Given the description of an element on the screen output the (x, y) to click on. 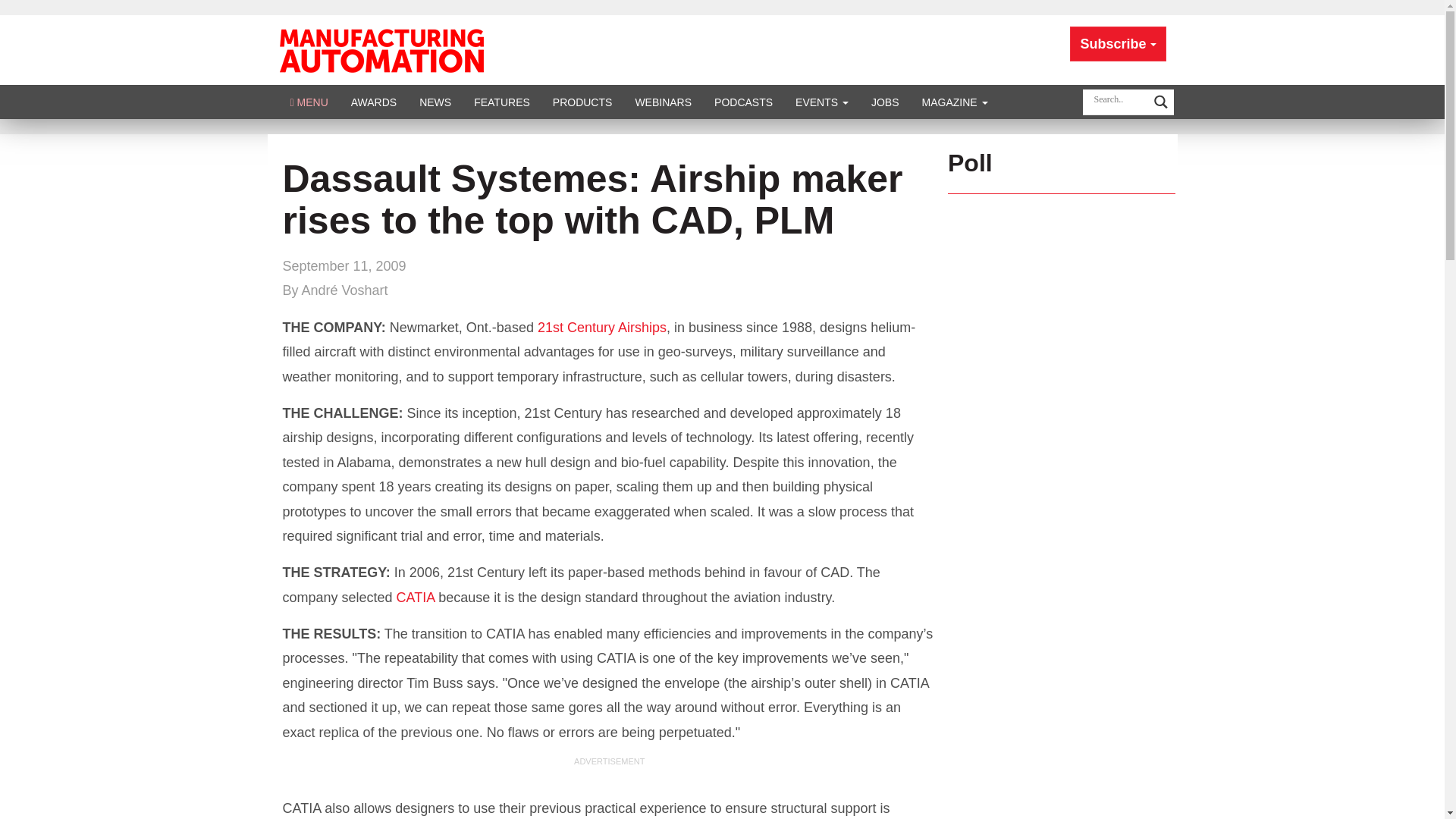
JOBS (885, 101)
PRODUCTS (582, 101)
PODCASTS (743, 101)
NEWS (435, 101)
Subscribe (1118, 43)
Manufacturing AUTOMATION (381, 48)
MAGAZINE (954, 101)
AWARDS (373, 101)
WEBINARS (663, 101)
MENU (309, 101)
